Given the description of an element on the screen output the (x, y) to click on. 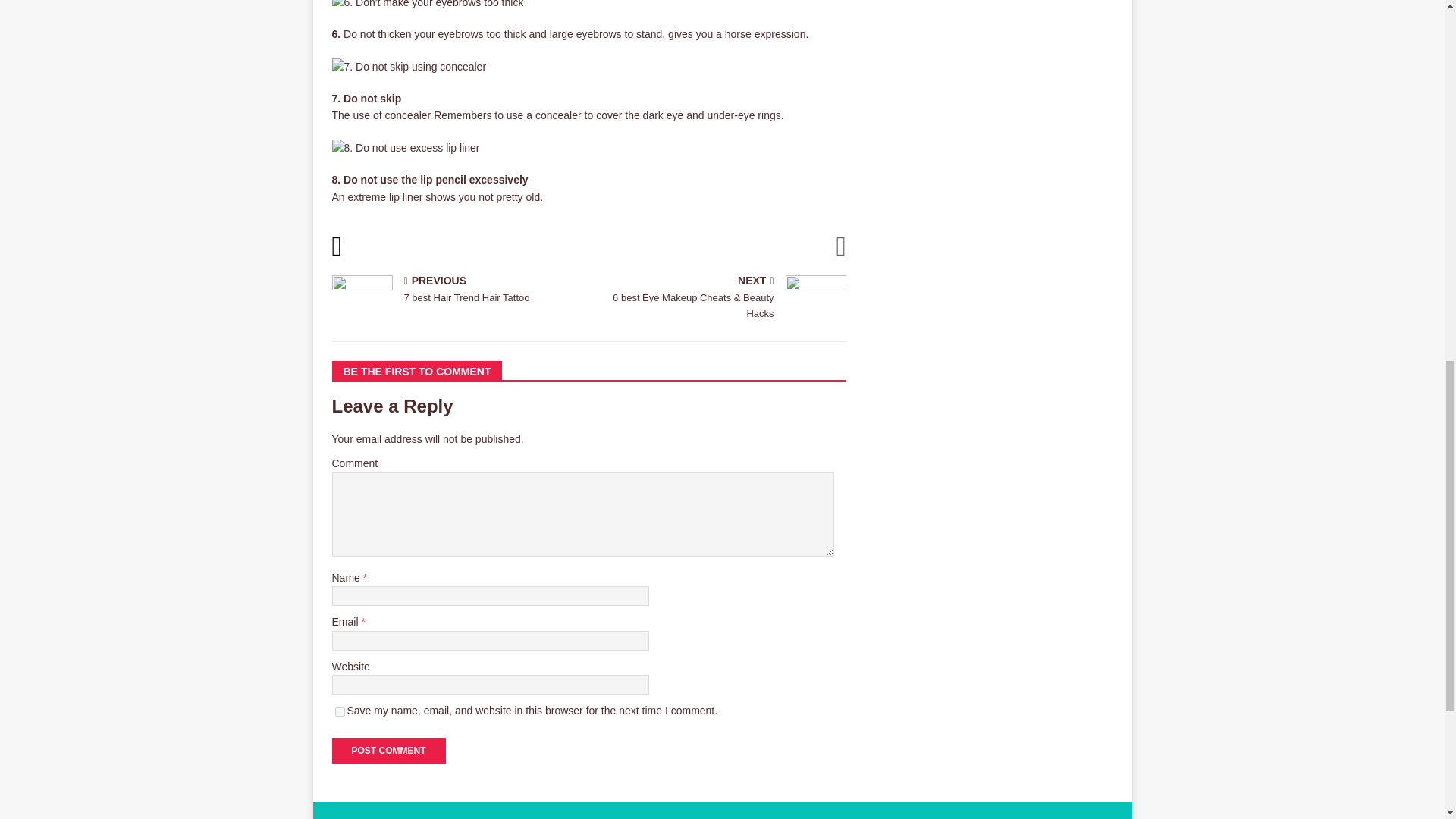
yes (339, 711)
Post Comment (457, 290)
Post Comment (388, 750)
